Given the description of an element on the screen output the (x, y) to click on. 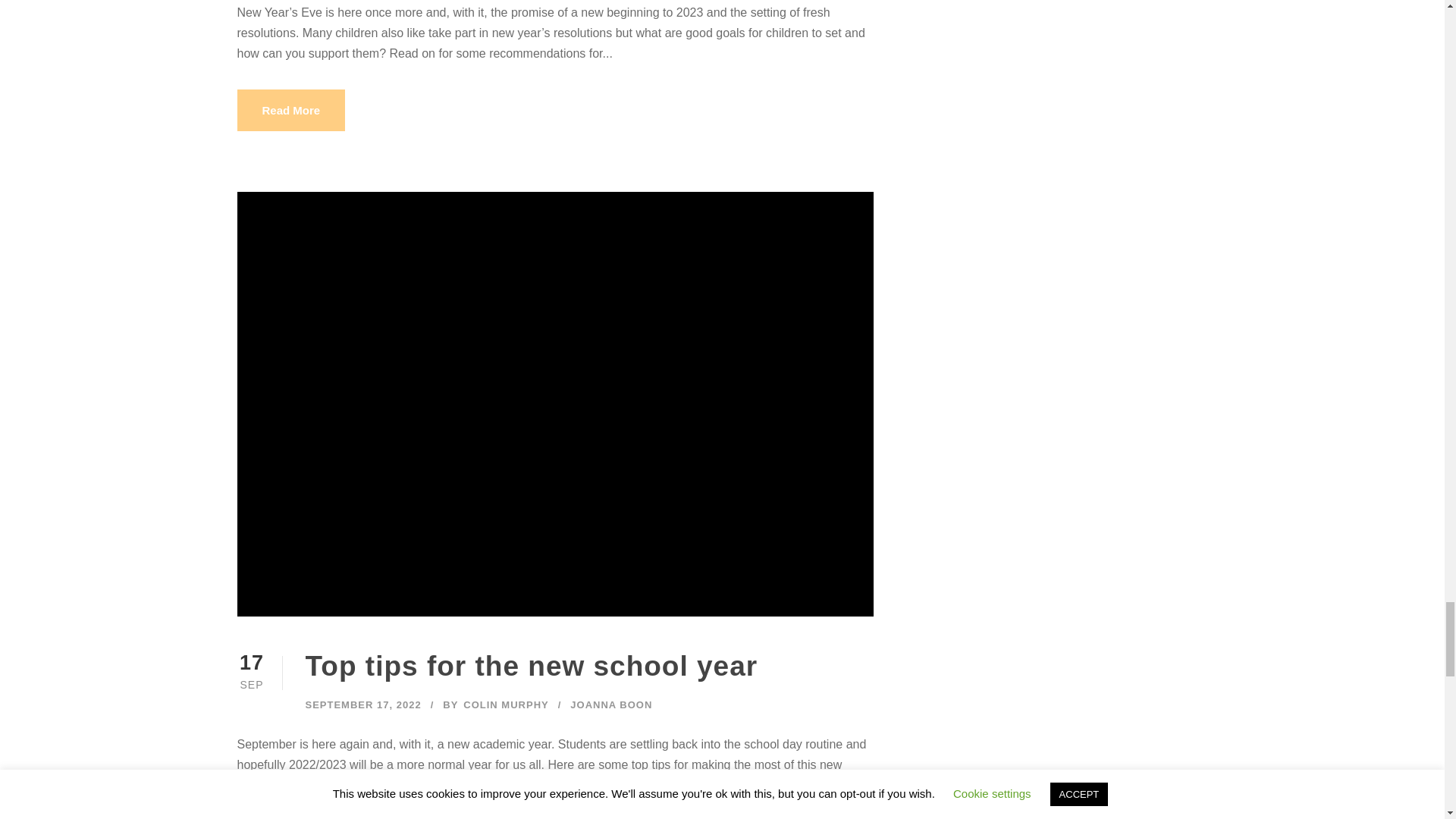
Posts by Colin Murphy (505, 704)
